Given the description of an element on the screen output the (x, y) to click on. 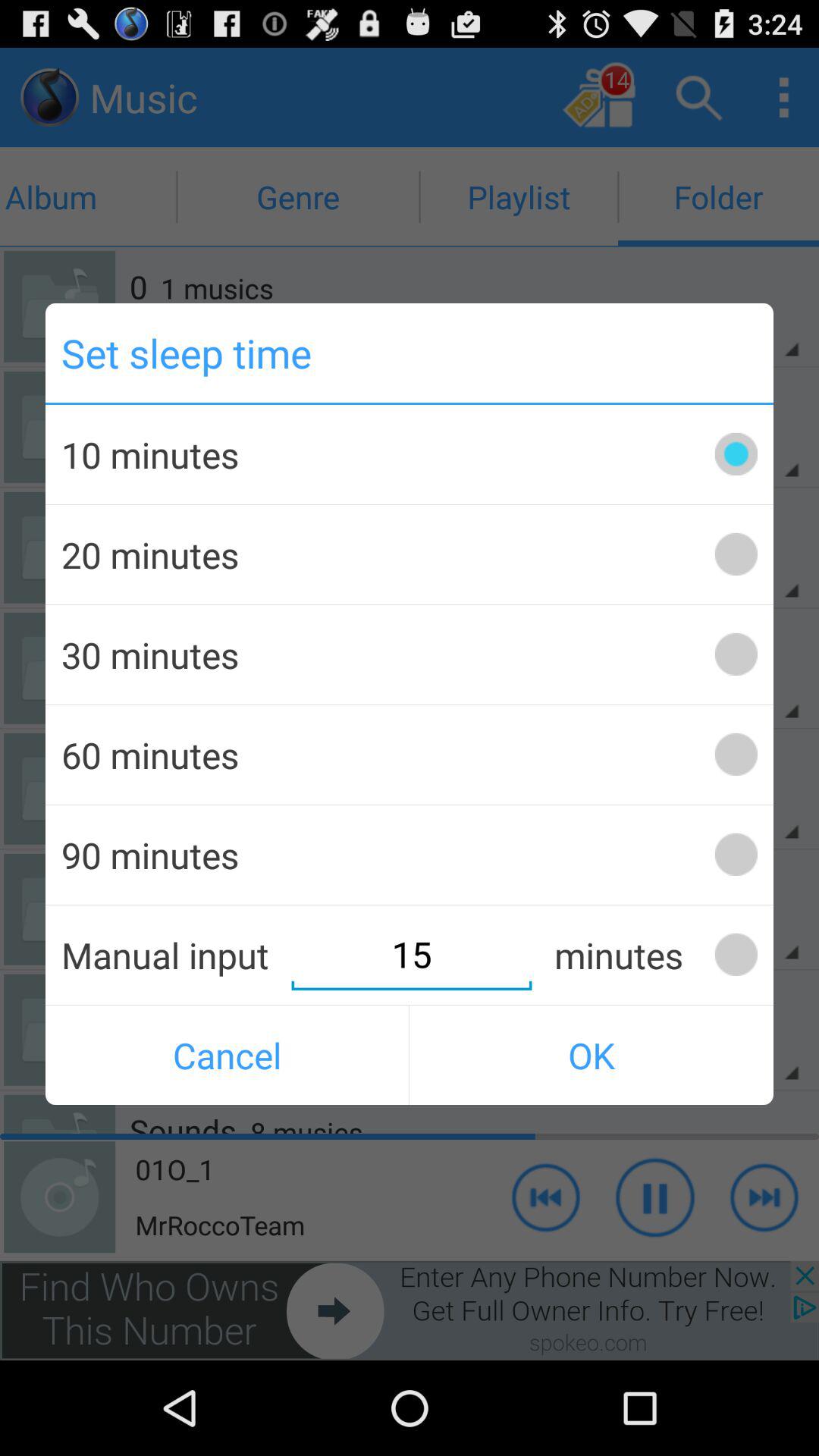
click the tick (735, 954)
